Given the description of an element on the screen output the (x, y) to click on. 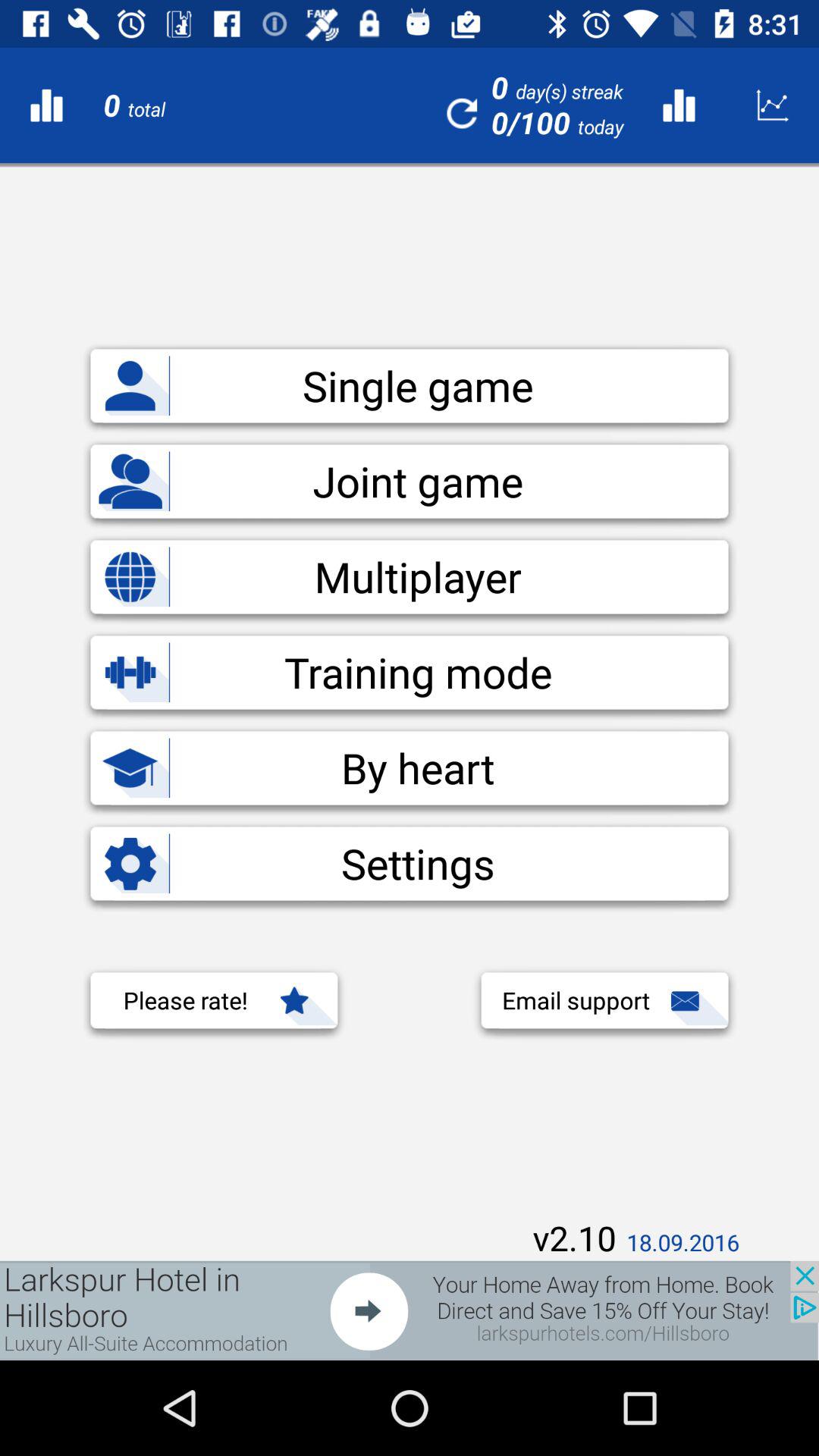
view the adversitement (409, 1310)
